Given the description of an element on the screen output the (x, y) to click on. 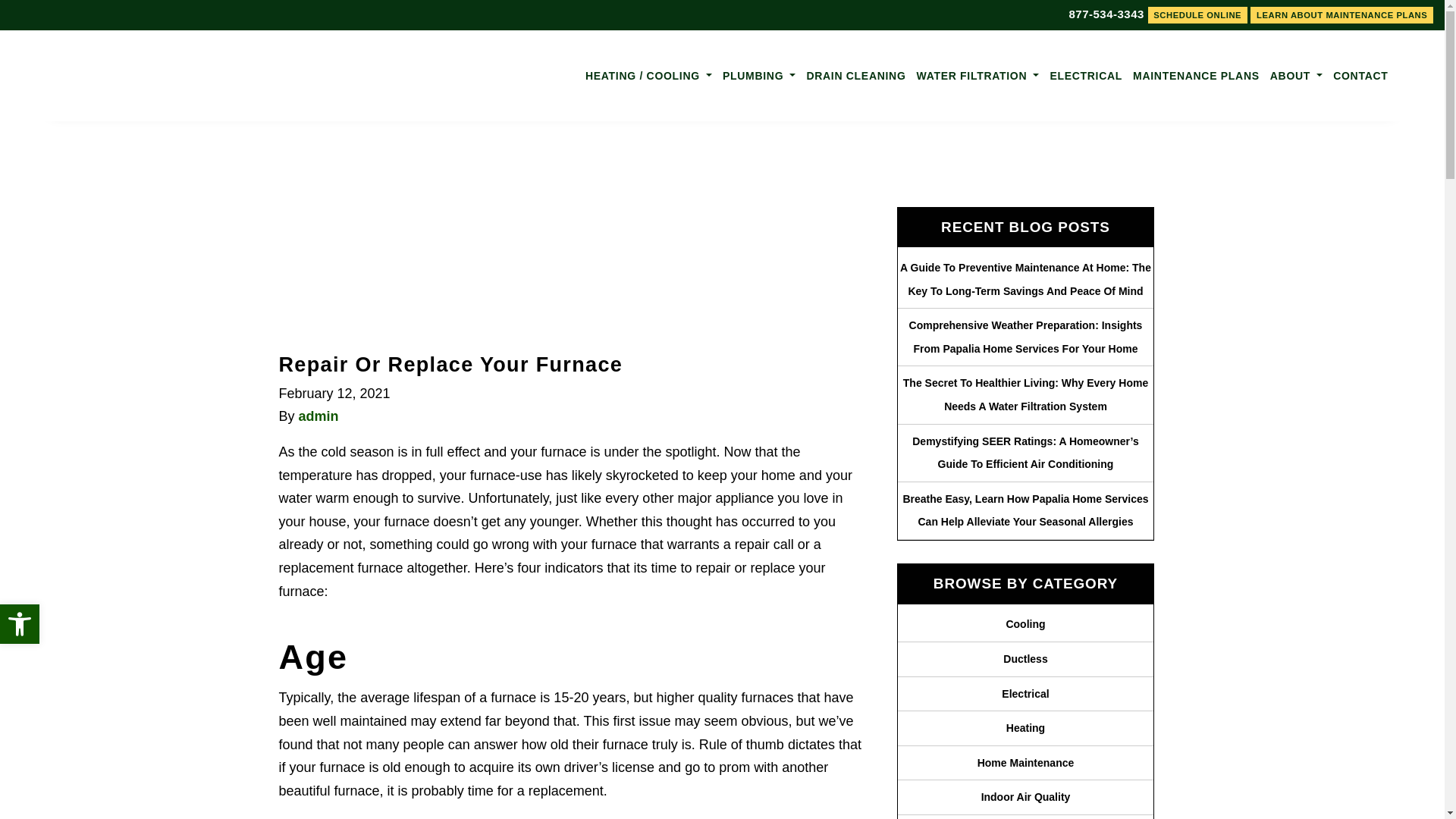
SCHEDULE ONLINE (1197, 14)
PLUMBING (758, 75)
Accessibility Tools (19, 623)
LEARN ABOUT MAINTENANCE PLANS (1341, 14)
Accessibility Tools (19, 623)
ELECTRICAL (1084, 75)
WATER FILTRATION (978, 75)
DRAIN CLEANING (855, 75)
877-534-3343 (1099, 13)
